Given the description of an element on the screen output the (x, y) to click on. 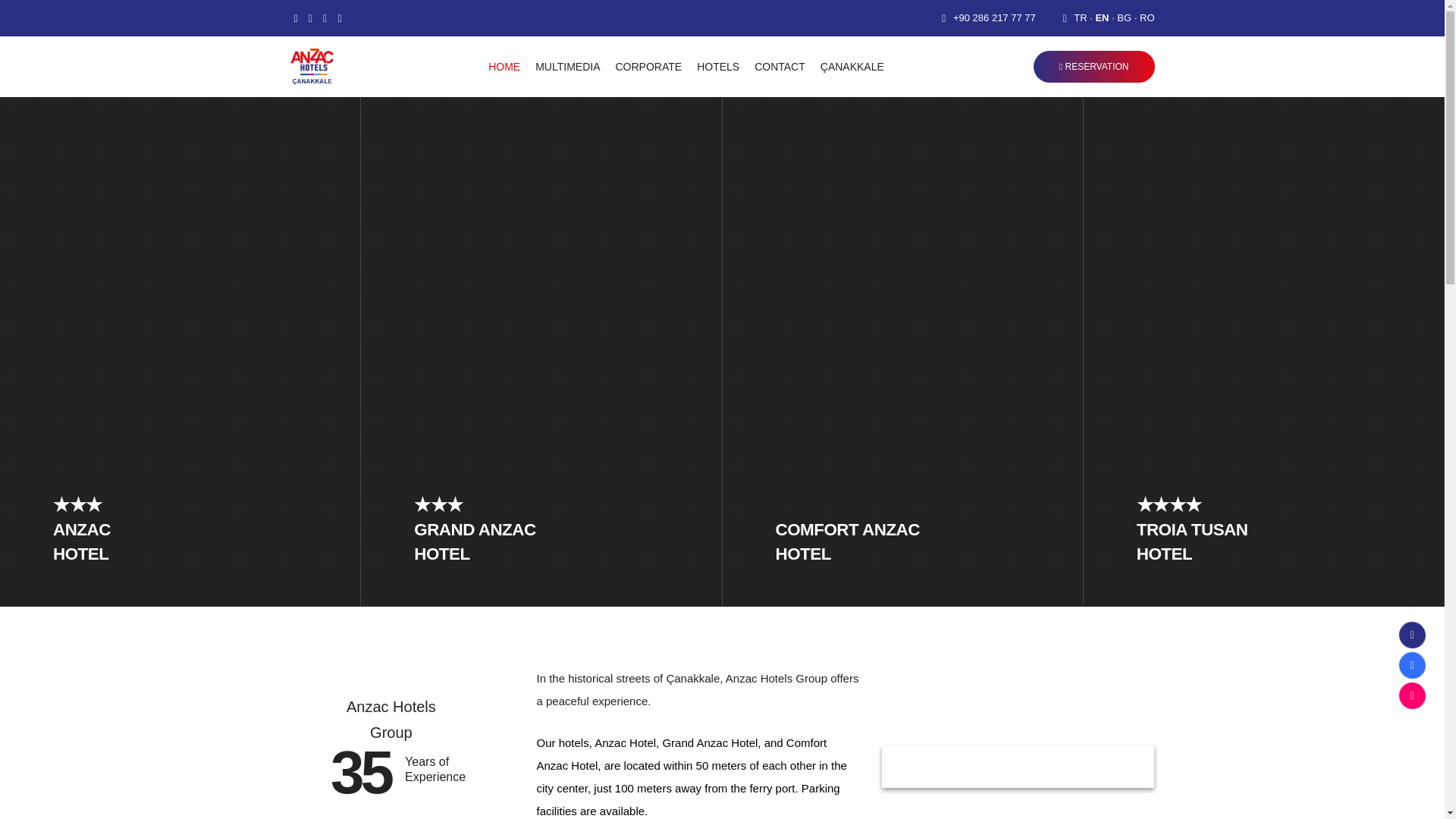
RESERVATION (1093, 66)
Whatsapp (339, 17)
CORPORATE (648, 66)
MULTIMEDIA (567, 66)
BG (1123, 17)
EN (1101, 17)
RO (1147, 17)
Reservation (1093, 66)
Facebook Contact Line (1406, 670)
Anzac Hotels (311, 66)
TR (1080, 17)
Contact Line (1406, 640)
Instagram Contact Line (1406, 701)
